Given the description of an element on the screen output the (x, y) to click on. 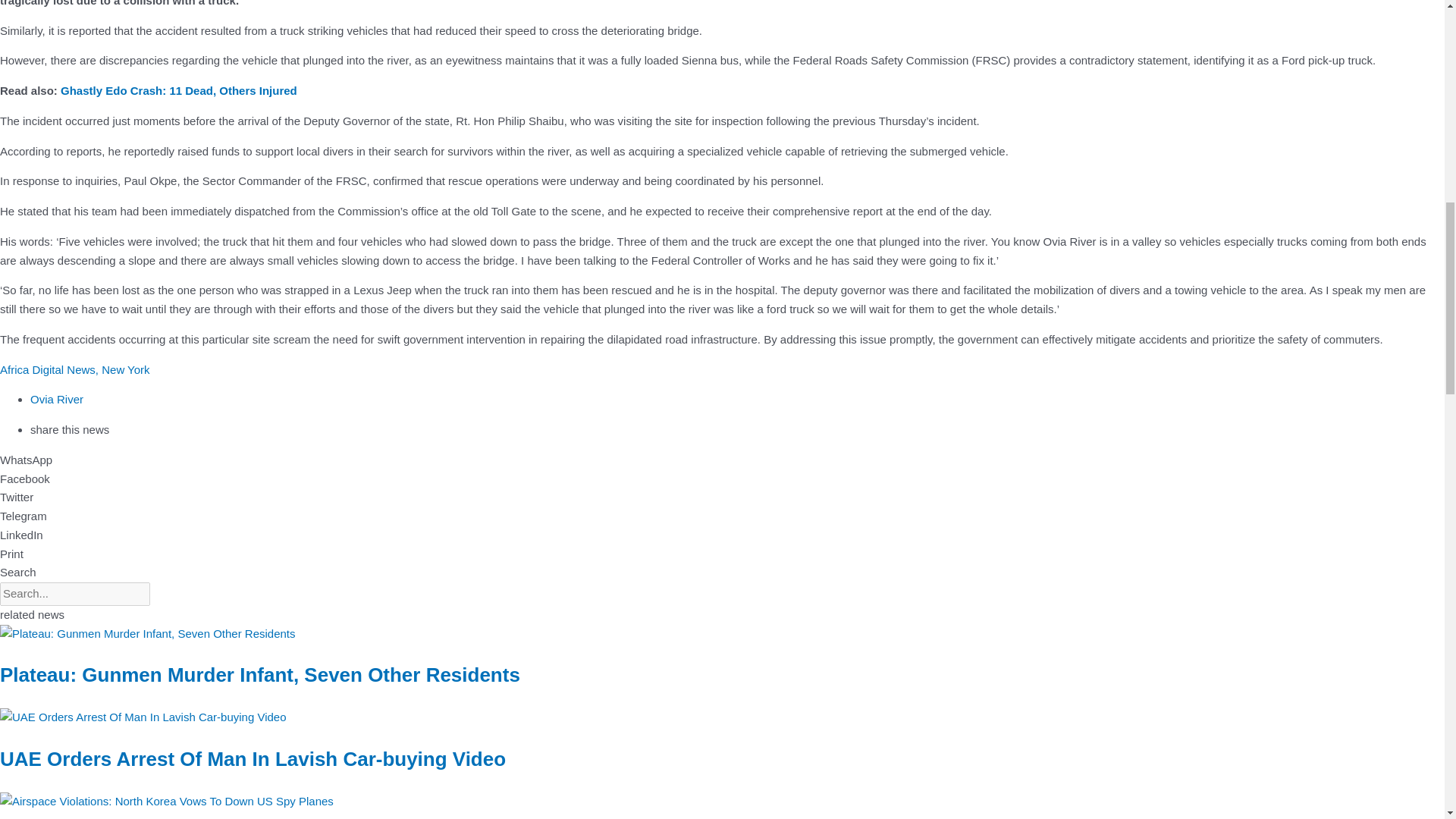
Ghastly Edo Crash: 11 Dead, Others Injured (179, 90)
Africa Digital News, New York (74, 369)
UAE Orders Arrest Of Man In Lavish Car-buying Video (252, 758)
Plateau: Gunmen Murder Infant, Seven Other Residents (259, 674)
Ovia River (56, 399)
Search (74, 594)
